Given the description of an element on the screen output the (x, y) to click on. 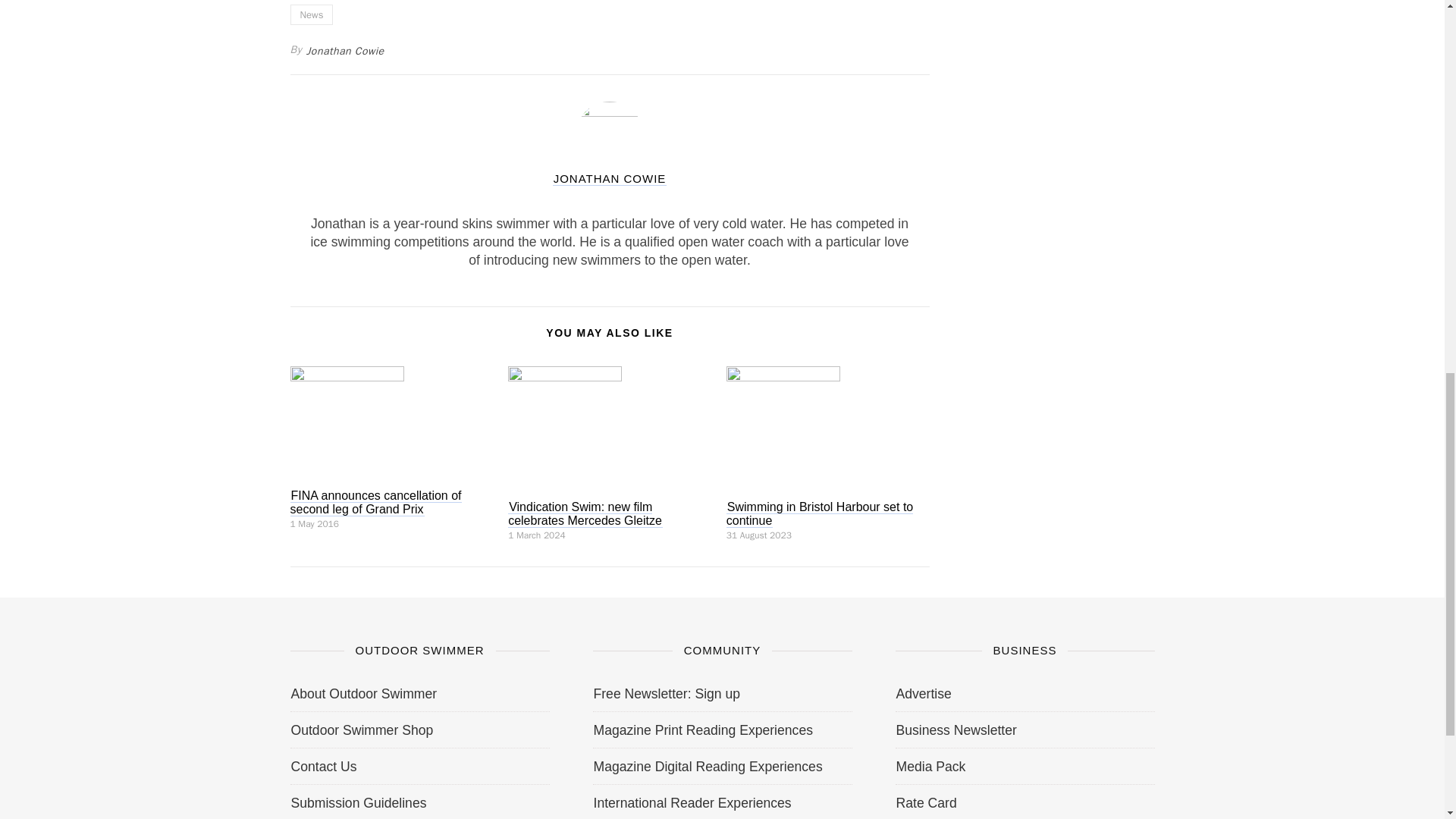
Posts by Jonathan Cowie (345, 50)
Posts by Jonathan Cowie (609, 177)
